Given the description of an element on the screen output the (x, y) to click on. 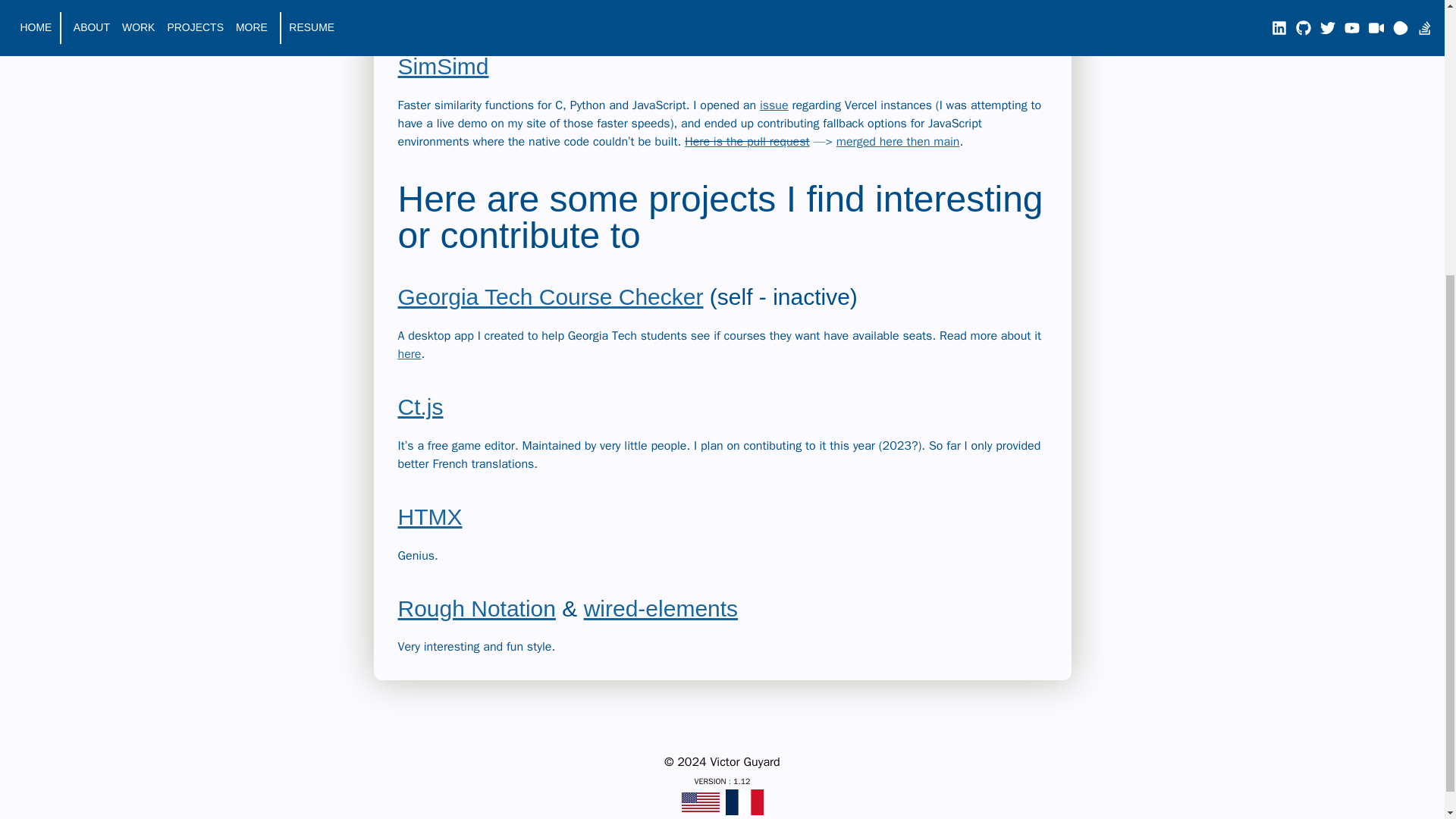
issue (774, 105)
HTMX (429, 516)
SimSimd (442, 66)
Rough Notation (475, 608)
Georgia Tech Course Checker (550, 296)
here (408, 353)
Ct.js (419, 406)
merged here then main (897, 141)
Here is the pull request (746, 141)
wired-elements (660, 608)
